Given the description of an element on the screen output the (x, y) to click on. 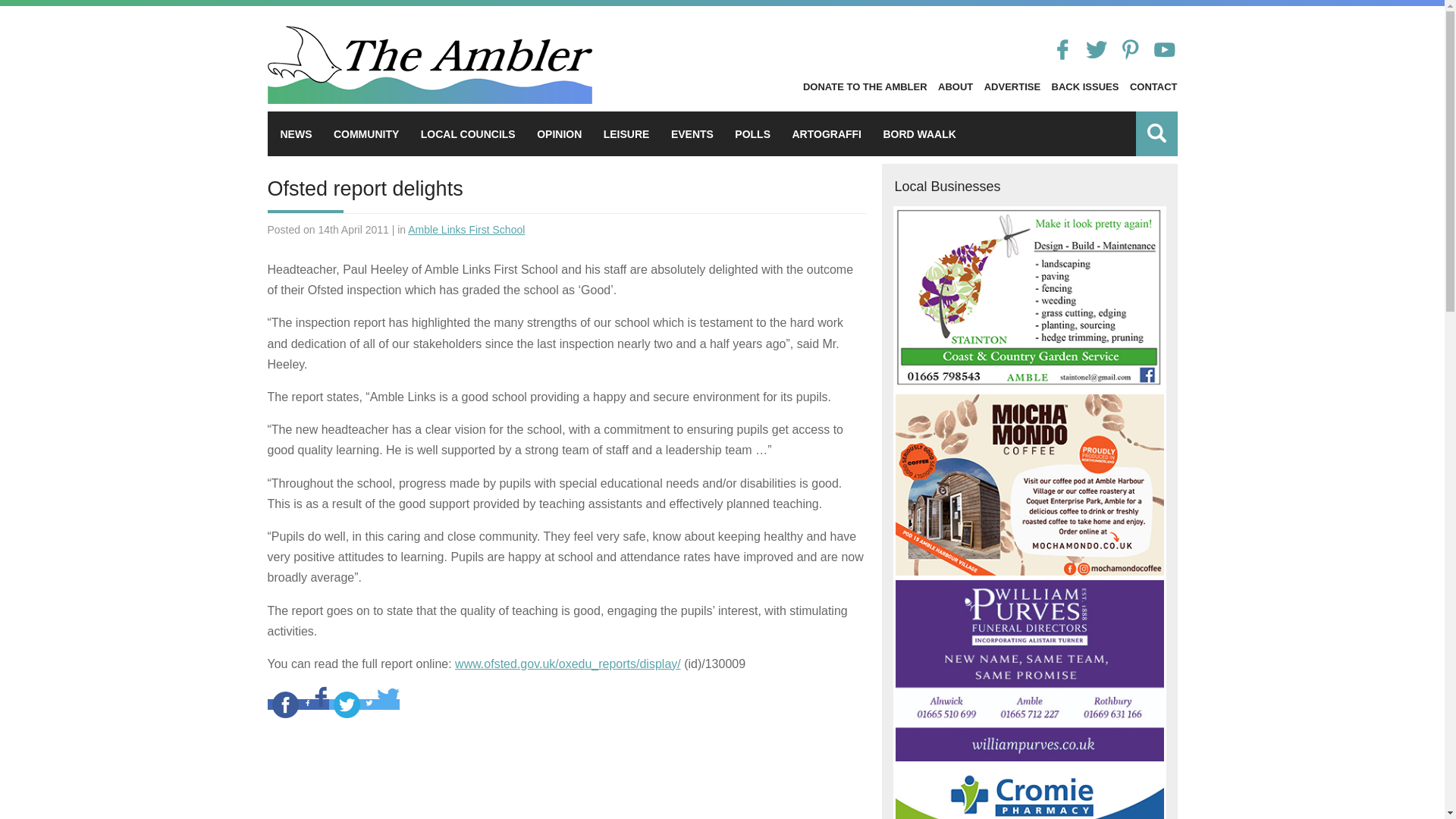
POLLS (752, 133)
LEISURE (626, 133)
EVENTS (692, 133)
OPINION (558, 133)
CONTACT (1153, 86)
facebook (284, 704)
BACK ISSUES (1085, 86)
twitter (347, 704)
ARTOGRAFFI (826, 133)
ABOUT (954, 86)
